Given the description of an element on the screen output the (x, y) to click on. 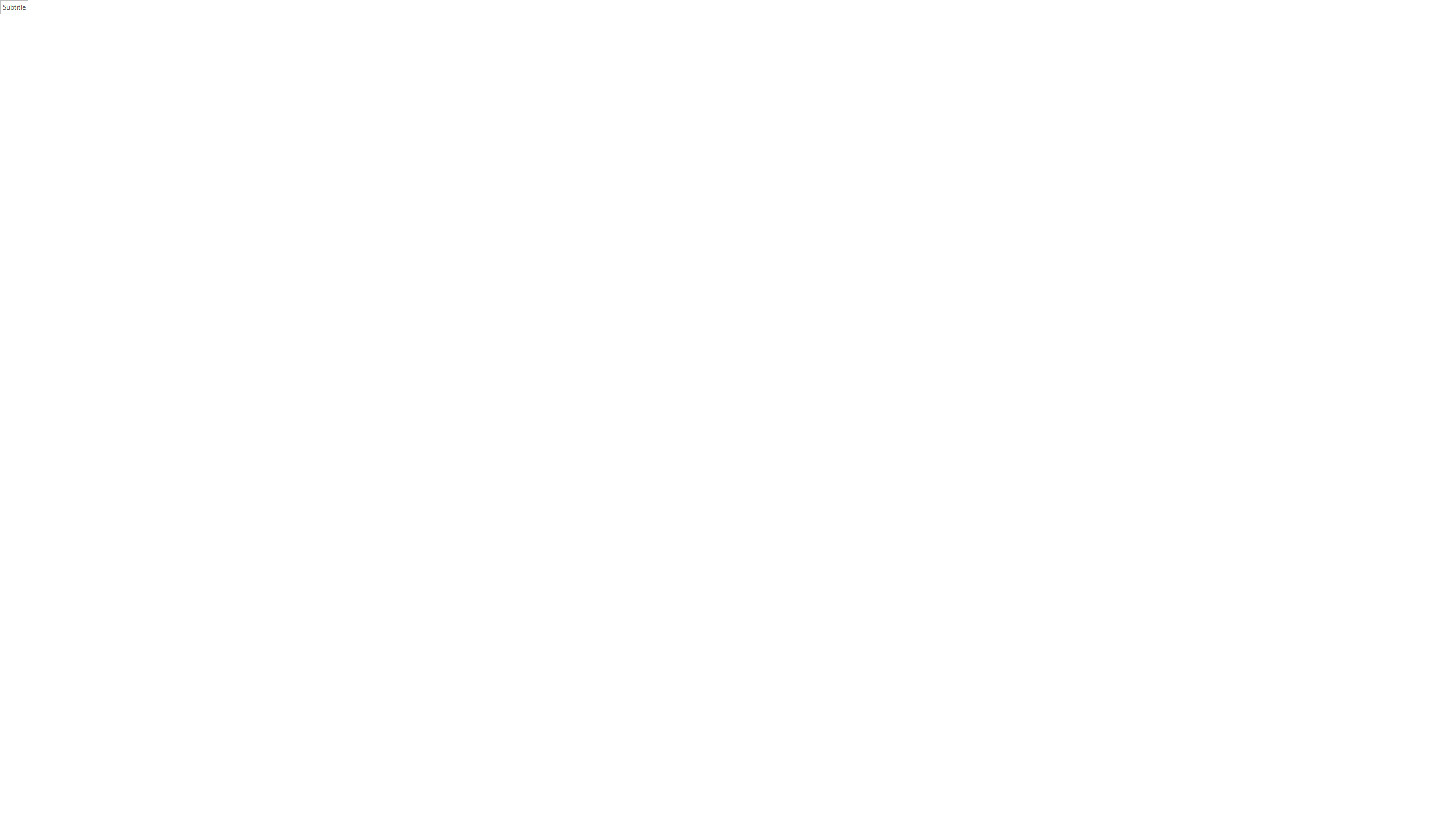
Paragraph... (450, 85)
Character Border (278, 49)
Shading (402, 67)
Emphasis (768, 56)
Font... (285, 85)
Change Case (229, 49)
Row up (1121, 45)
Subtitle (728, 409)
